Given the description of an element on the screen output the (x, y) to click on. 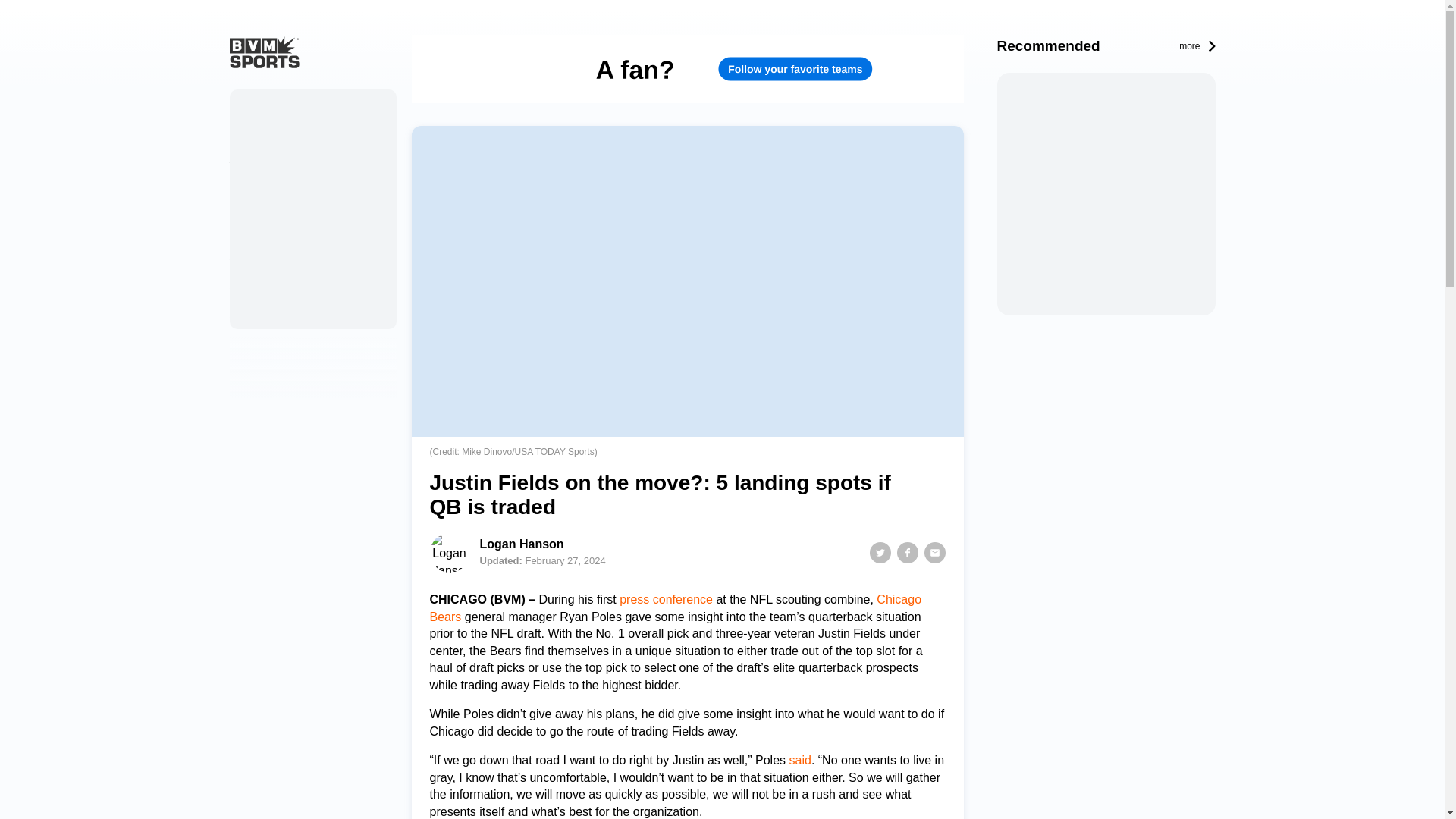
Account (249, 255)
Logan Hanson (521, 545)
said (799, 759)
Share on Twitter (879, 552)
Home (252, 104)
Favorites (252, 225)
Submit a story (265, 286)
Chicago Bears (675, 607)
Originals (251, 134)
Share via email (933, 552)
